Given the description of an element on the screen output the (x, y) to click on. 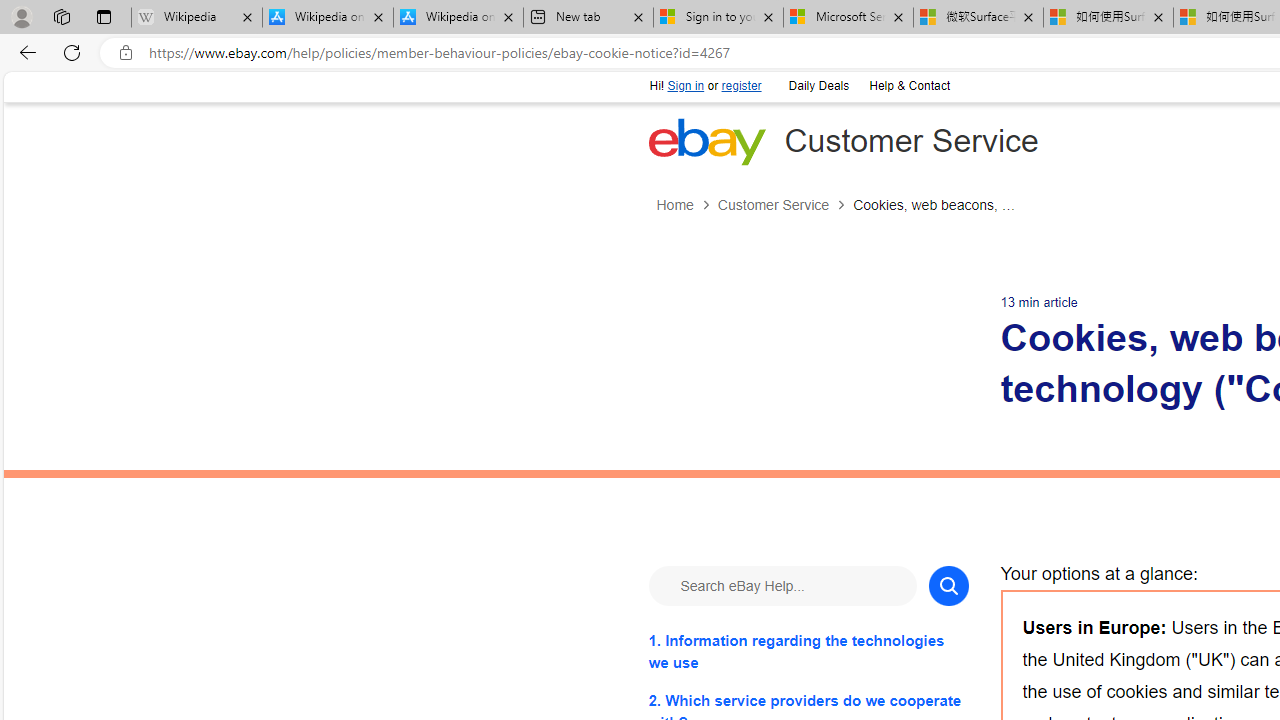
Customer Service (784, 205)
1. Information regarding the technologies we use (807, 651)
Customer Service (772, 205)
Microsoft Services Agreement (847, 17)
Search eBay Help... (781, 585)
Sign in to your Microsoft account (718, 17)
Help & Contact (907, 84)
Help & Contact (909, 86)
1. Information regarding the technologies we use (807, 651)
